Given the description of an element on the screen output the (x, y) to click on. 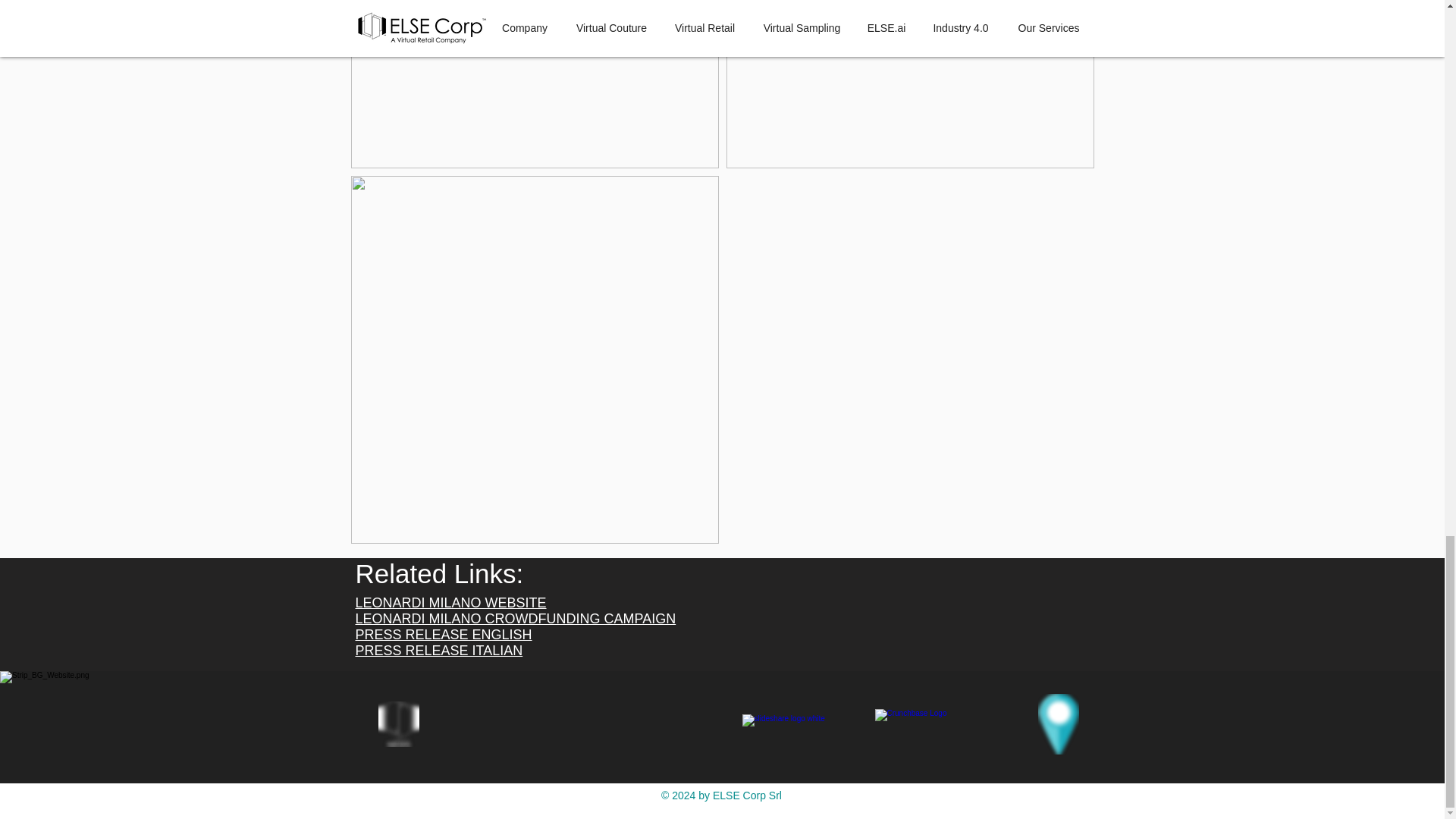
LEONARDI MILANO CROWDFUNDING CAMPAIGN (515, 618)
PRESS RELEASE ENGLISH (443, 634)
PRESS RELEASE ITALIAN (438, 650)
LEONARDI MILANO WEBSITE (450, 602)
